Given the description of an element on the screen output the (x, y) to click on. 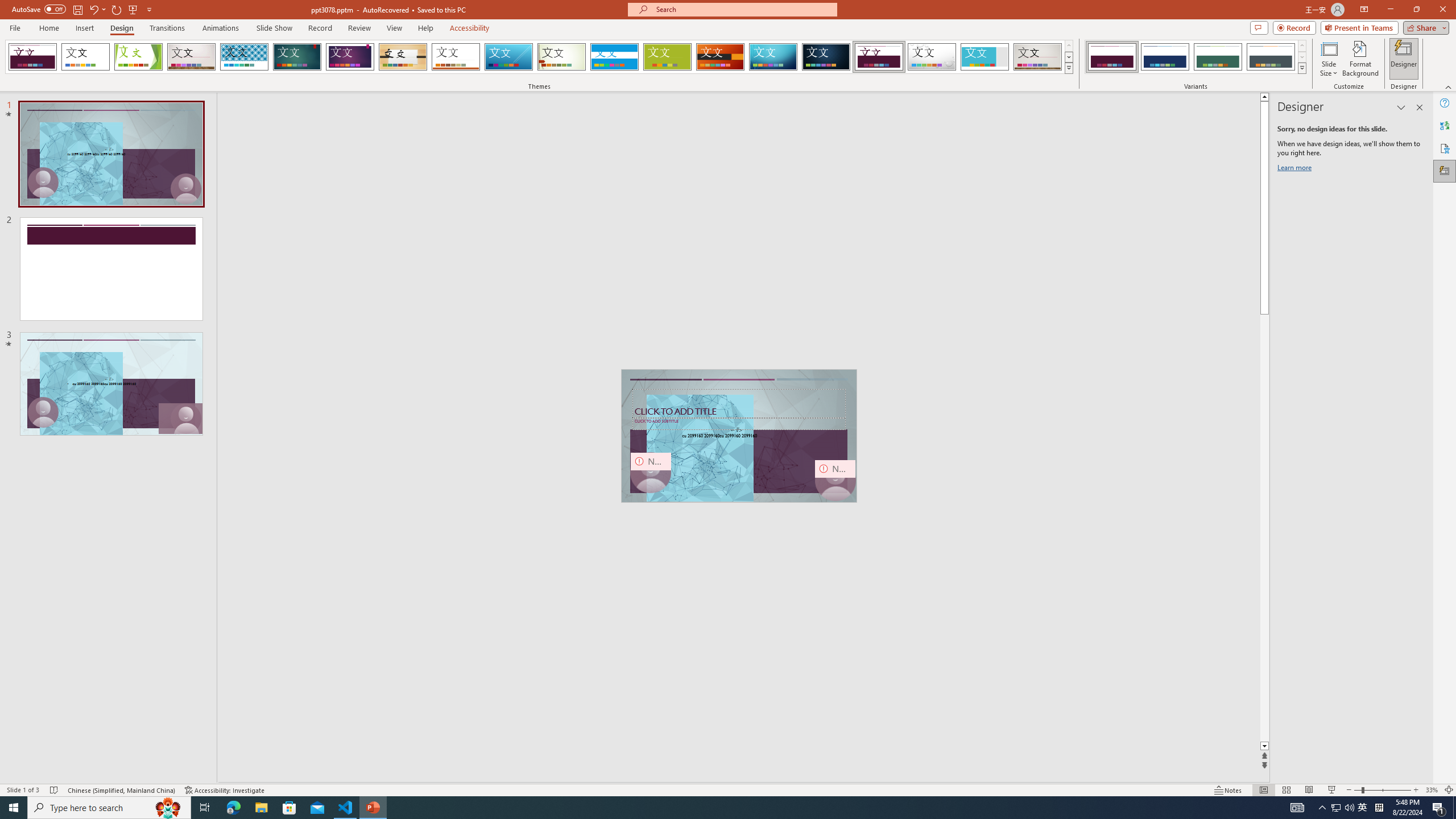
Slide Show (1331, 790)
AutomationID: ThemeVariantsGallery (1195, 56)
Damask (826, 56)
Office Theme (85, 56)
Customize Quick Access Toolbar (149, 9)
Learn more (1295, 169)
Redo (117, 9)
Slide Size (1328, 58)
Quick Access Toolbar (82, 9)
Designer (1403, 58)
Accessibility Checker Accessibility: Investigate (224, 790)
Page down (1264, 528)
File Tab (15, 27)
Transitions (167, 28)
